Given the description of an element on the screen output the (x, y) to click on. 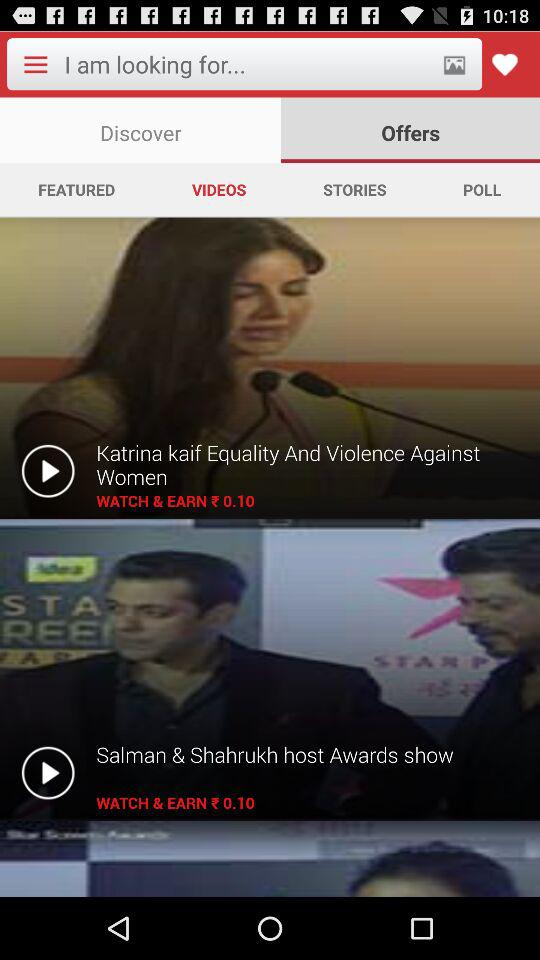
turn off the item below the discover app (354, 189)
